Given the description of an element on the screen output the (x, y) to click on. 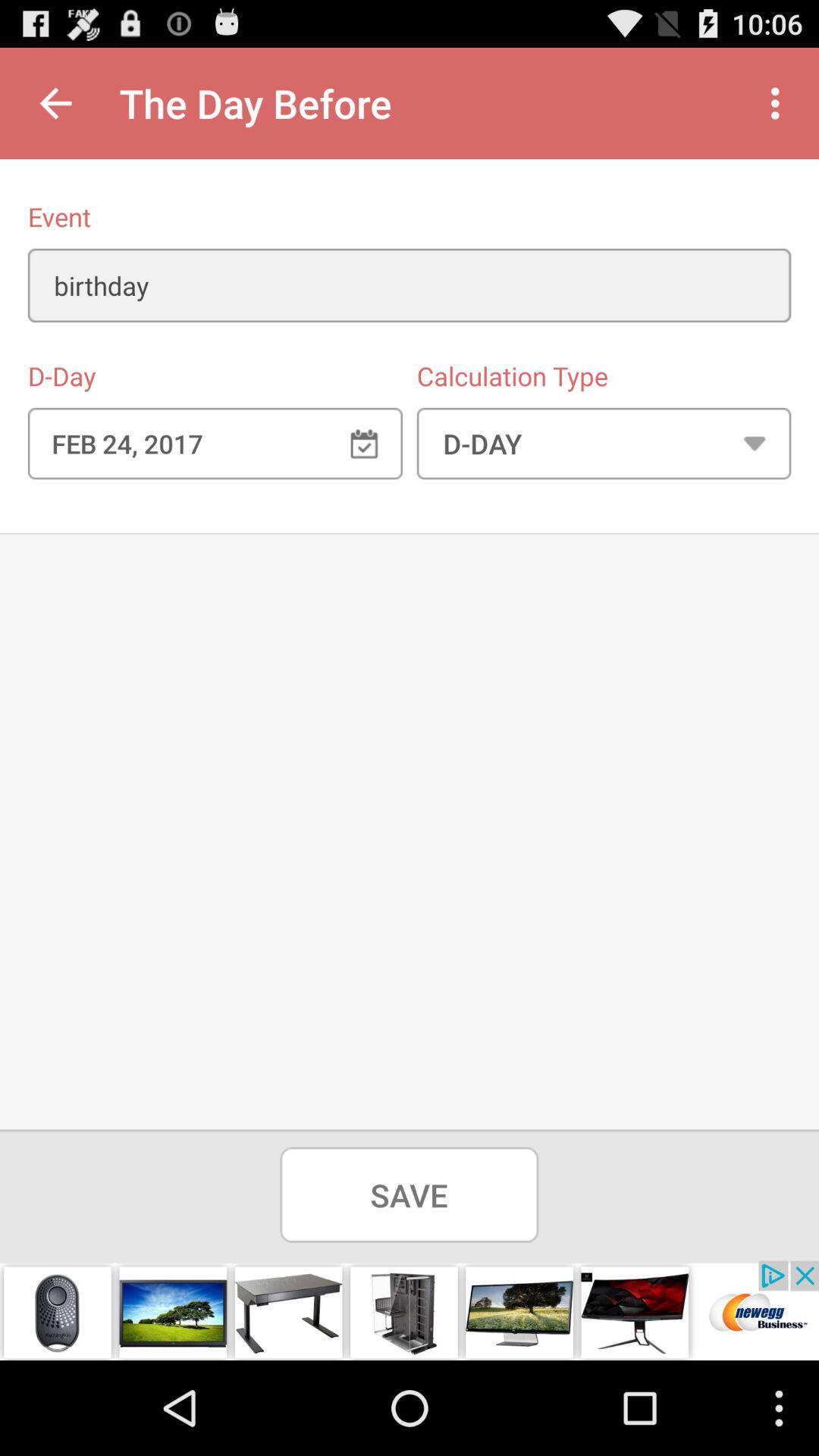
advertisement (409, 1310)
